Given the description of an element on the screen output the (x, y) to click on. 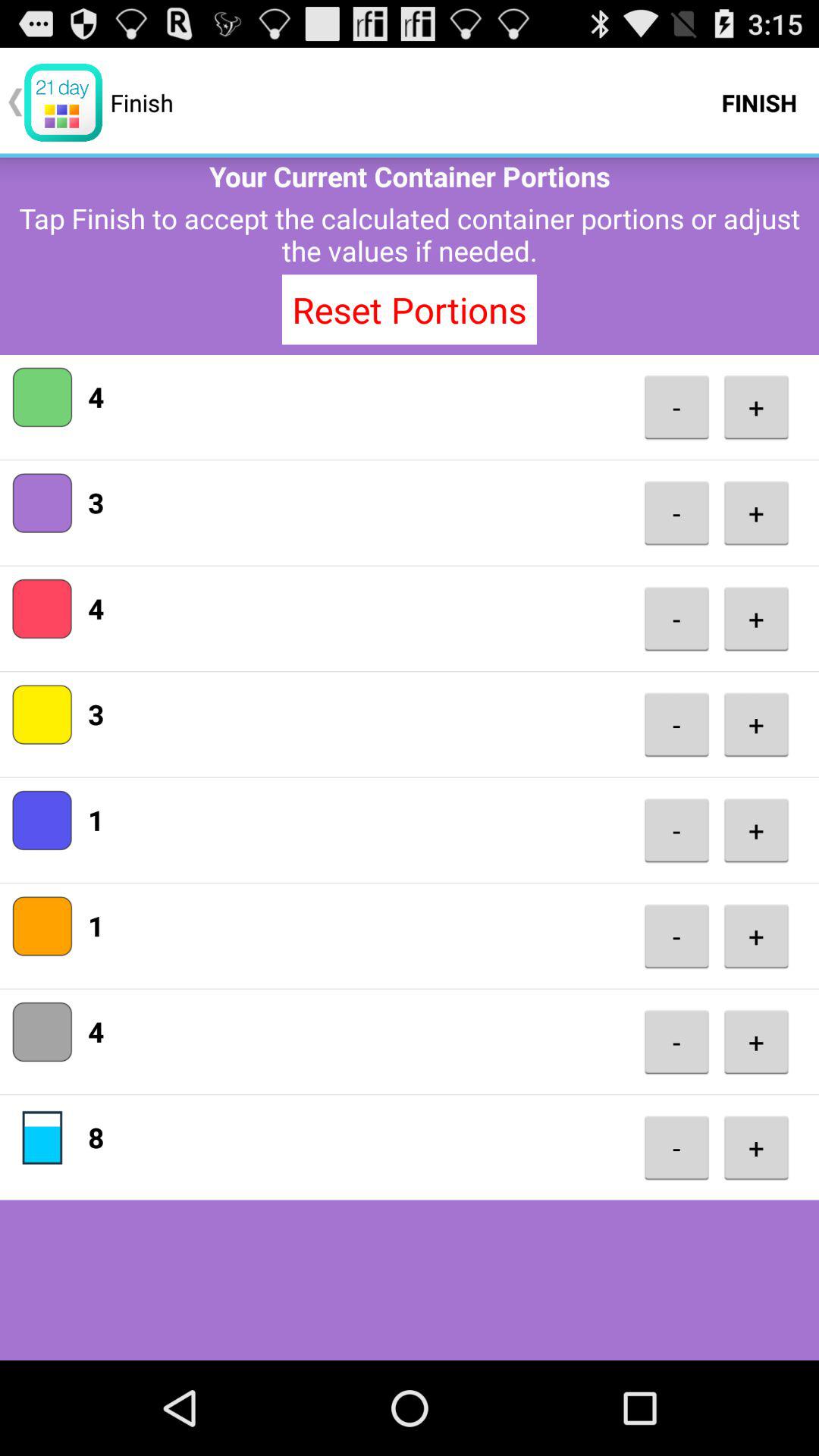
open the item next to the 1 item (676, 935)
